Given the description of an element on the screen output the (x, y) to click on. 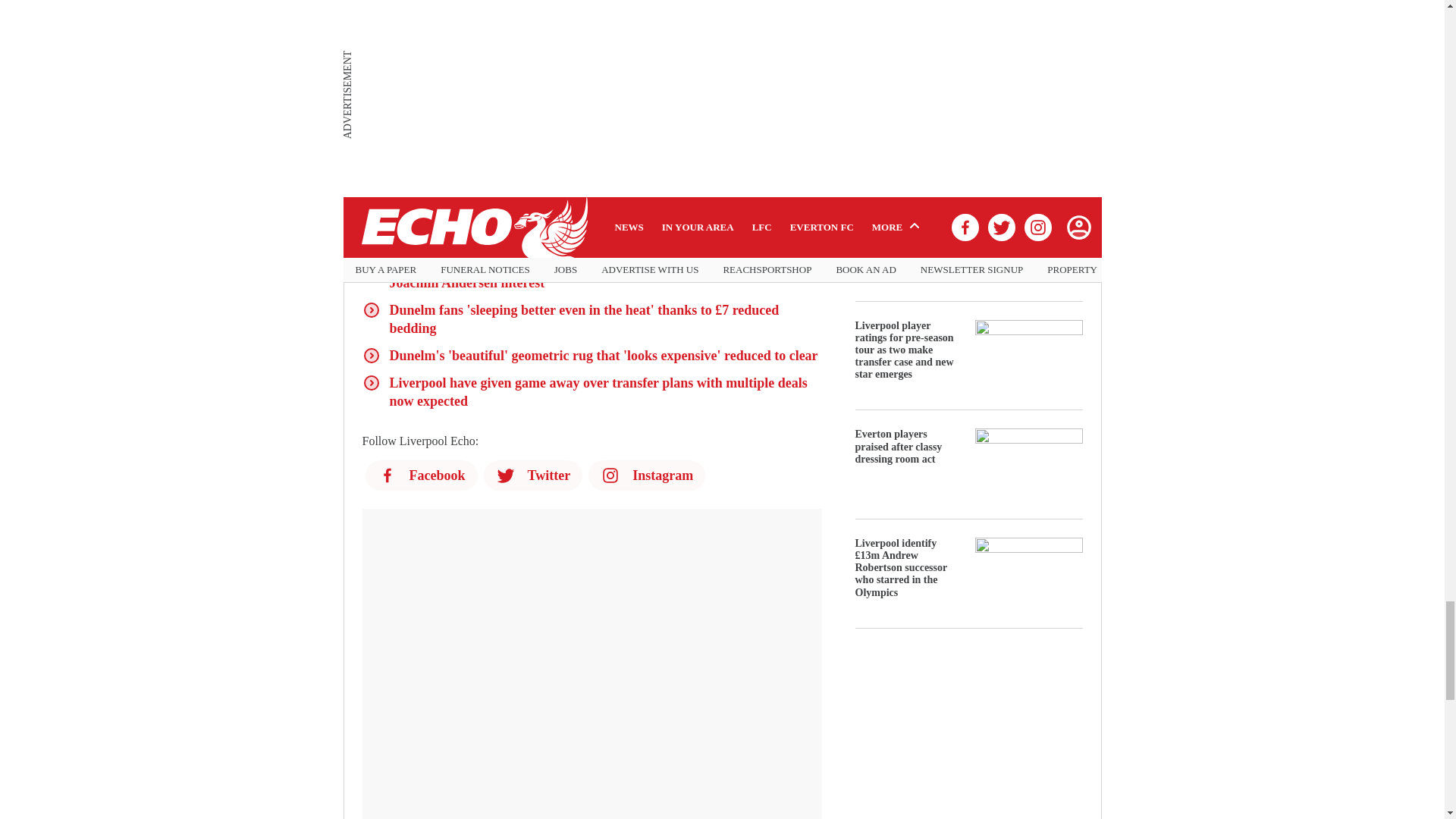
Read Next Article Icon (371, 310)
Read Next Article Icon (371, 237)
Read Next Article Icon (371, 264)
Read Next Article Icon (371, 355)
Read Next Article Icon (371, 382)
